Given the description of an element on the screen output the (x, y) to click on. 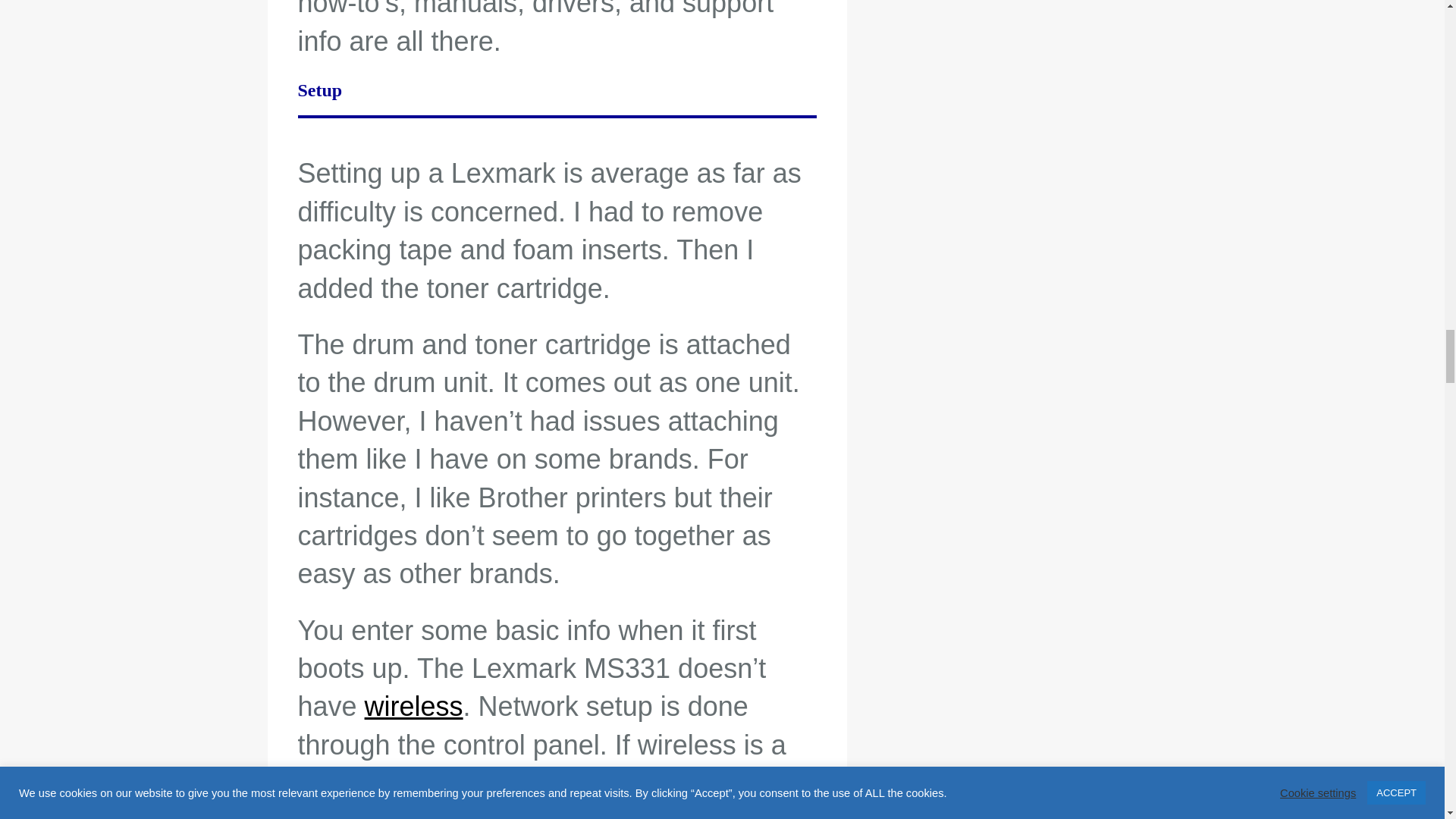
the Lexmark MS431 (606, 782)
wireless (414, 706)
